Given the description of an element on the screen output the (x, y) to click on. 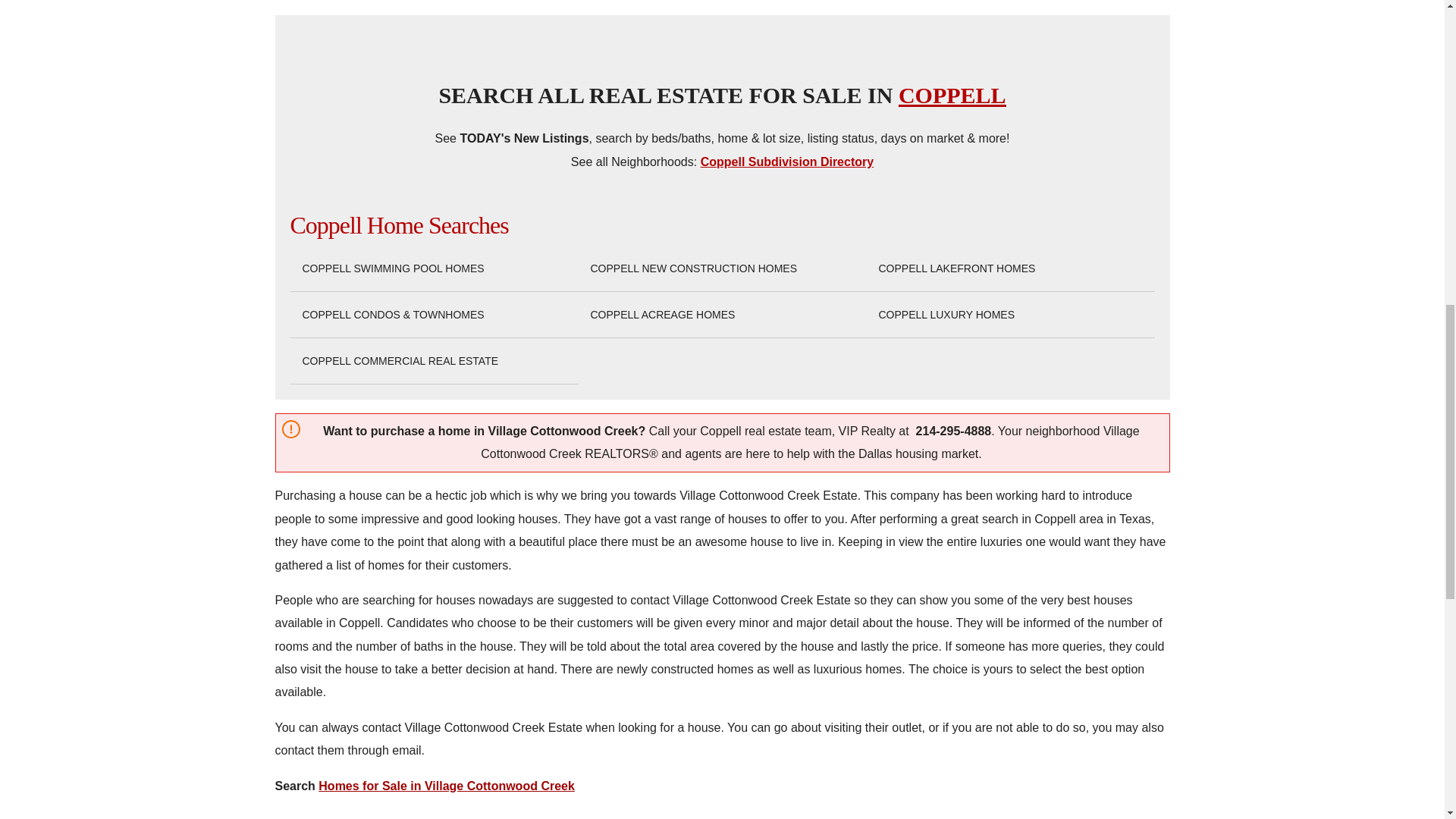
Coppell Condos Townhomes (392, 314)
Coppell Swimming Pool Homes (392, 268)
Coppell New Construction Homes (692, 268)
Coppell Lakefront Homes (956, 268)
Coppell Luxury Homes (945, 314)
Coppell Acreage Homes (662, 314)
Coppell Commercial Real Estate (399, 360)
